Given the description of an element on the screen output the (x, y) to click on. 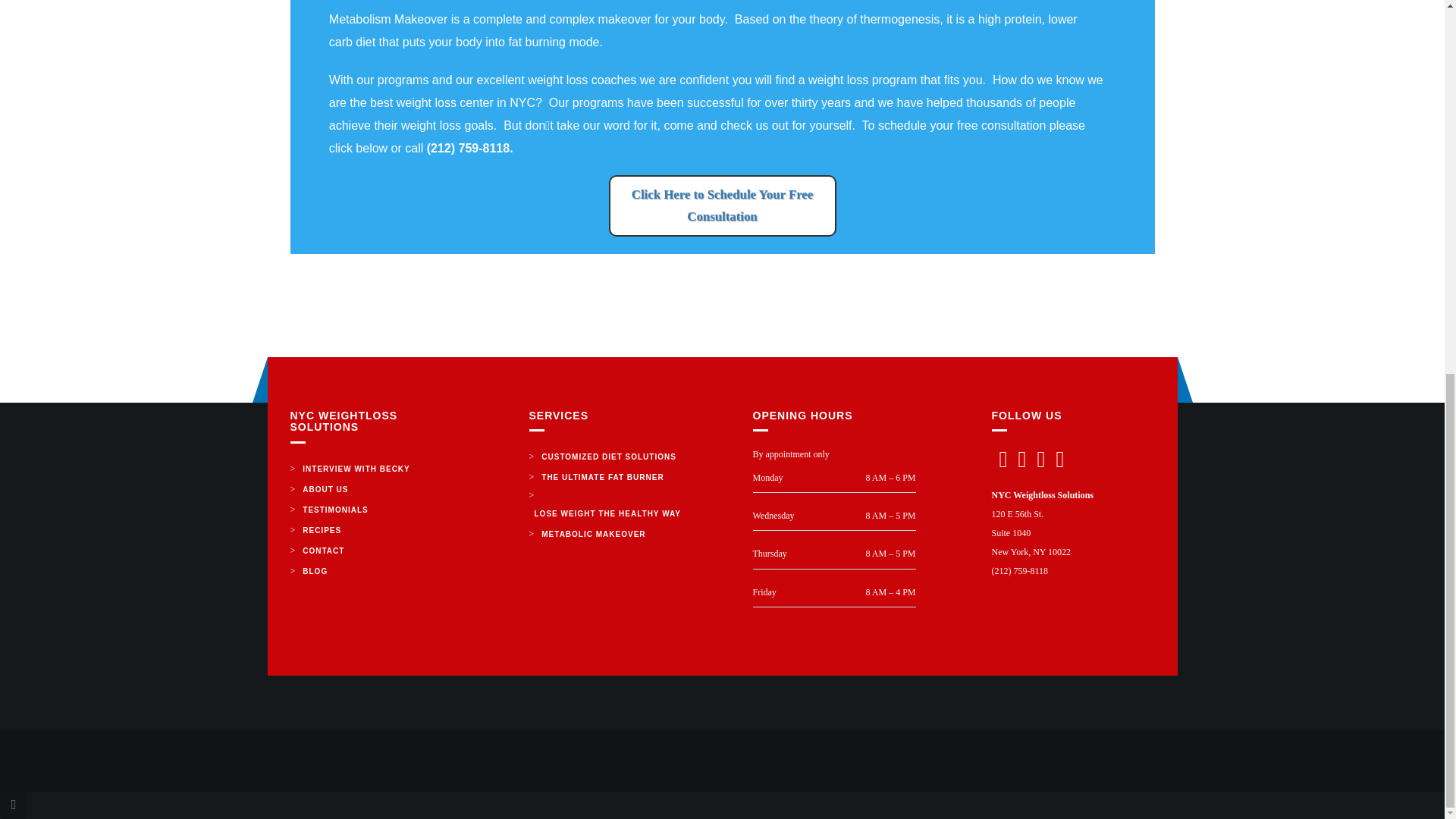
METABOLIC MAKEOVER (592, 534)
ABOUT US (325, 489)
INTERVIEW WITH BECKY (355, 468)
CONTACT (323, 550)
RECIPES (321, 530)
BLOG (315, 571)
TESTIMONIALS (334, 509)
Click Here to Schedule Your Free Consultation (721, 205)
CUSTOMIZED DIET SOLUTIONS (608, 456)
THE ULTIMATE FAT BURNER (601, 476)
LOSE WEIGHT THE HEALTHY WAY (608, 513)
